Given the description of an element on the screen output the (x, y) to click on. 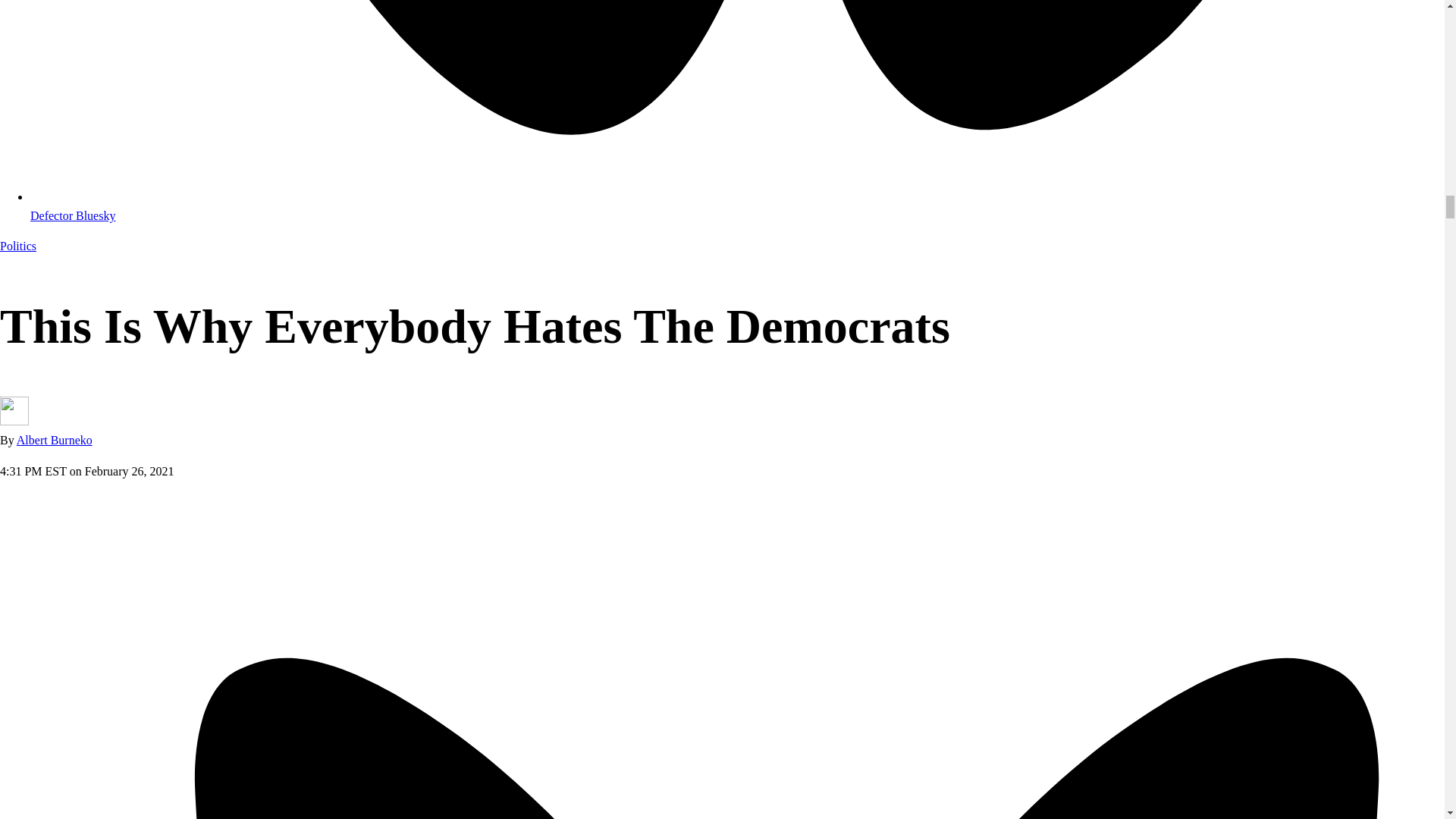
Albert Burneko (54, 440)
Politics (18, 245)
